Given the description of an element on the screen output the (x, y) to click on. 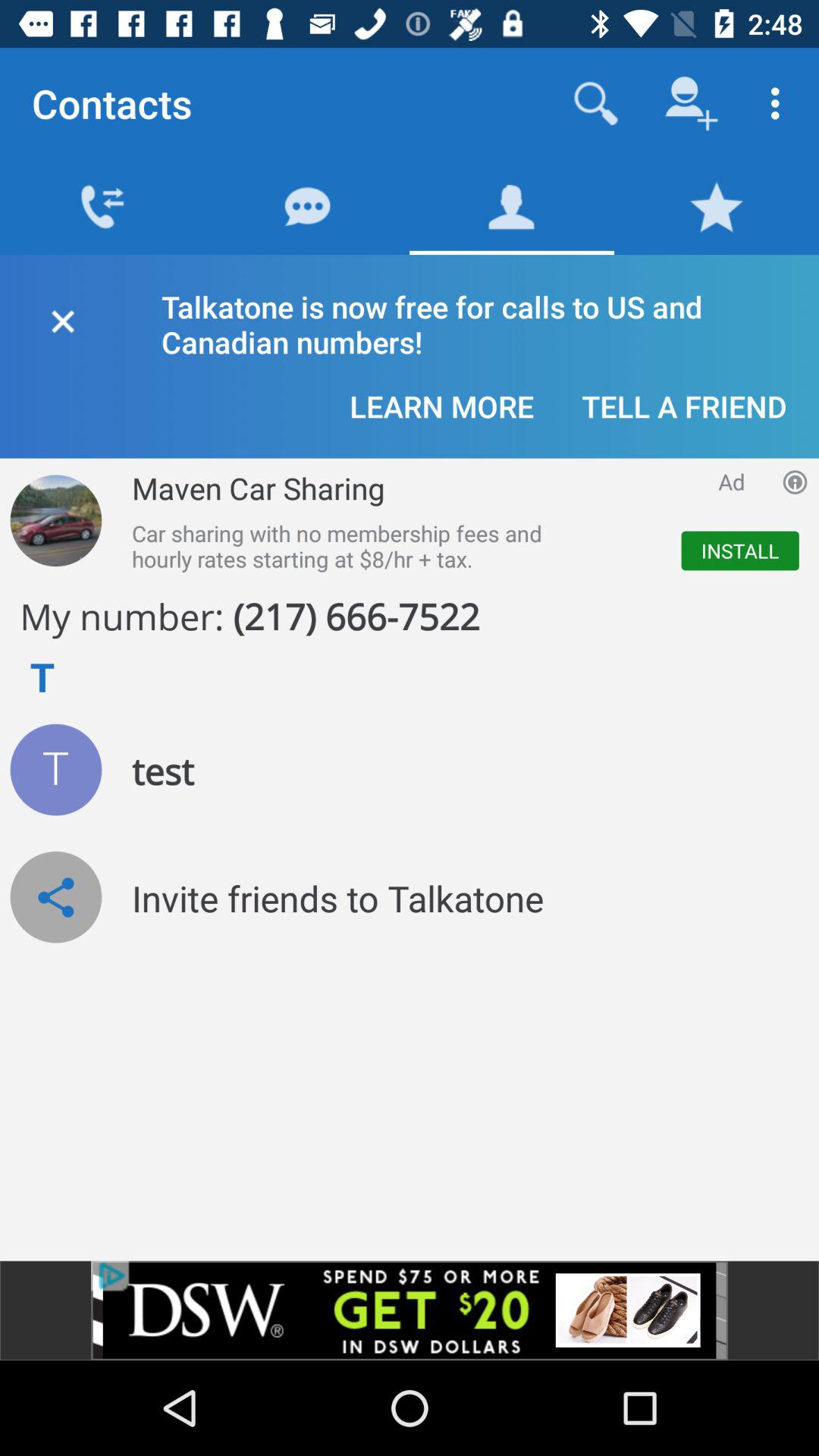
car to add (55, 520)
